Given the description of an element on the screen output the (x, y) to click on. 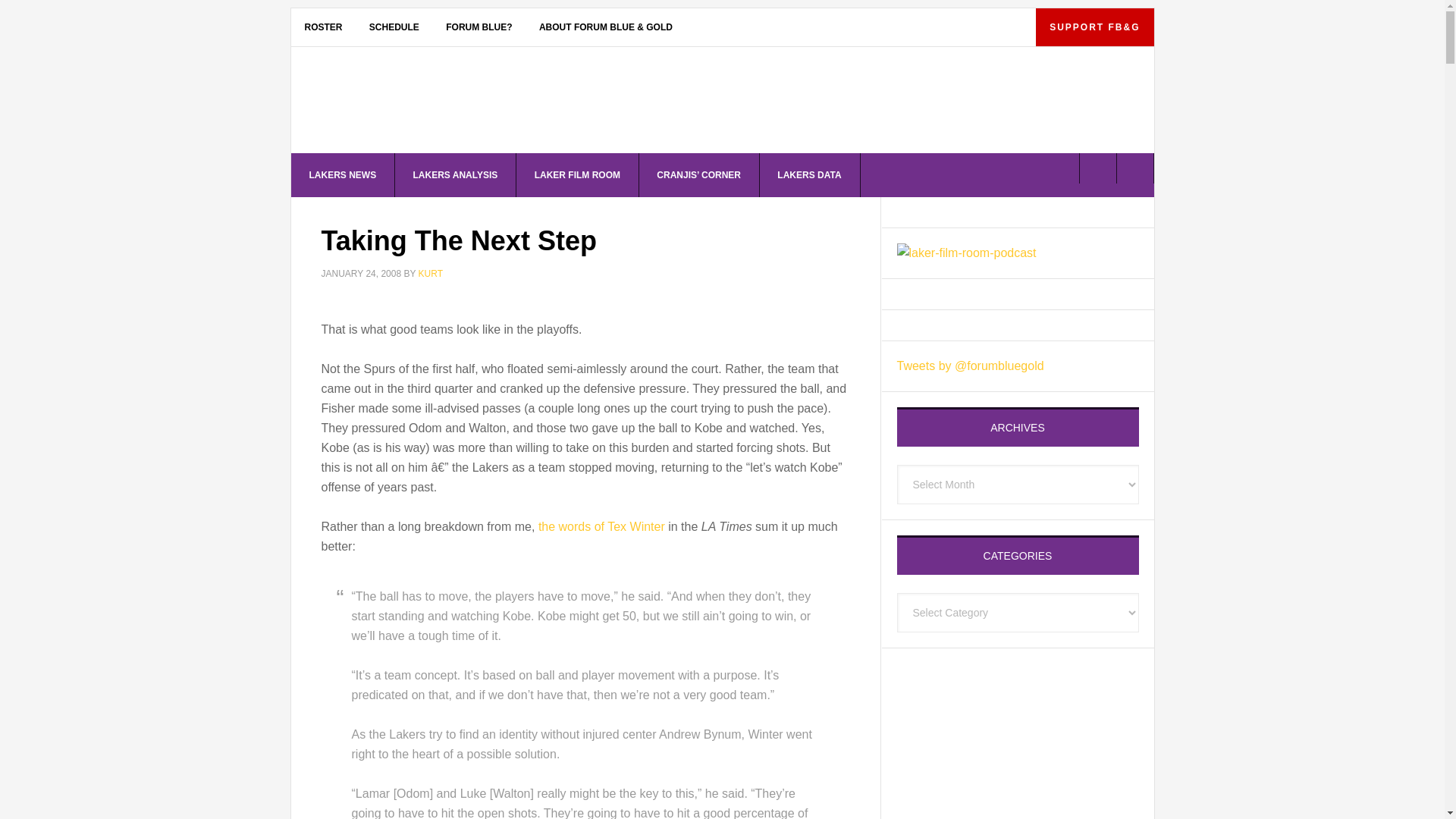
ROSTER (323, 26)
FORUM BLUE? (478, 26)
LAKERS ANALYSIS (455, 175)
LAKER FILM ROOM (577, 175)
FORUM BLUE AND GOLD (419, 103)
KURT (430, 273)
SCHEDULE (393, 26)
LAKERS DATA (809, 175)
the words of Tex Winter (601, 526)
Advertisement (1016, 737)
LAKERS NEWS (343, 175)
